Given the description of an element on the screen output the (x, y) to click on. 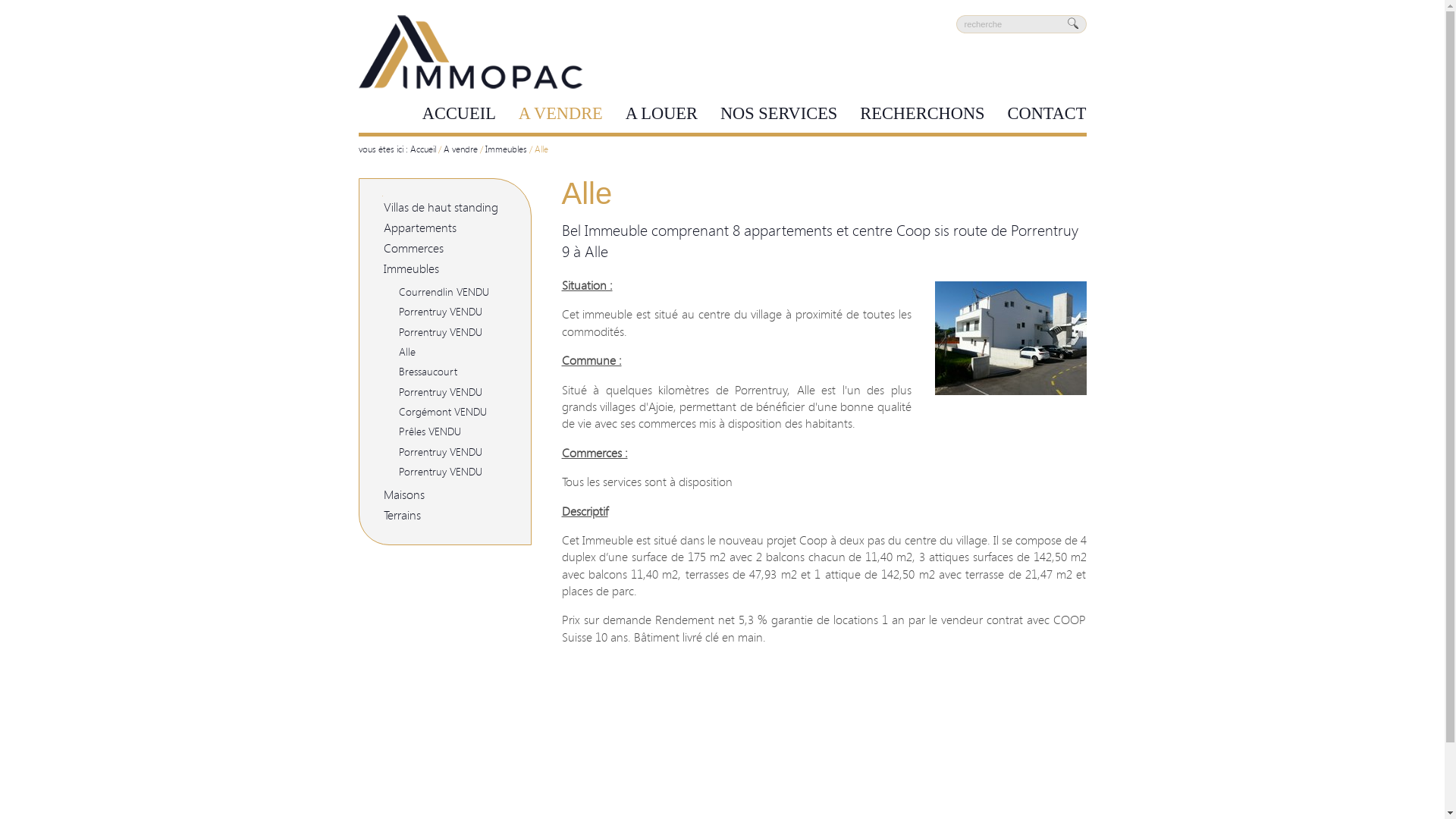
RECHERCHONS Element type: text (921, 112)
NOS SERVICES Element type: text (778, 112)
Commerces Element type: text (413, 248)
Bressaucourt Element type: text (427, 371)
A VENDRE Element type: text (560, 112)
Courrendlin VENDU Element type: text (443, 291)
Maisons Element type: text (403, 494)
CONTACT Element type: text (1046, 112)
Immeubles Element type: text (411, 268)
Titre Element type: hover (470, 22)
A Immopac - Alle Element type: hover (1009, 387)
Recherche Element type: hover (1010, 25)
Porrentruy VENDU Element type: text (440, 471)
Porrentruy VENDU Element type: text (440, 311)
Porrentruy VENDU Element type: text (440, 332)
A LOUER Element type: text (661, 112)
Rechercher Element type: text (1074, 23)
Accueil Element type: text (422, 149)
Appartements Element type: text (419, 227)
Immeubles Element type: text (506, 149)
Alle Element type: text (406, 351)
Porrentruy VENDU Element type: text (440, 391)
Terrains Element type: text (401, 515)
Villas de haut standing Element type: text (440, 207)
ACCUEIL Element type: text (458, 112)
Porrentruy VENDU Element type: text (440, 451)
A vendre Element type: text (459, 149)
Navigation Element type: text (409, 194)
